Given the description of an element on the screen output the (x, y) to click on. 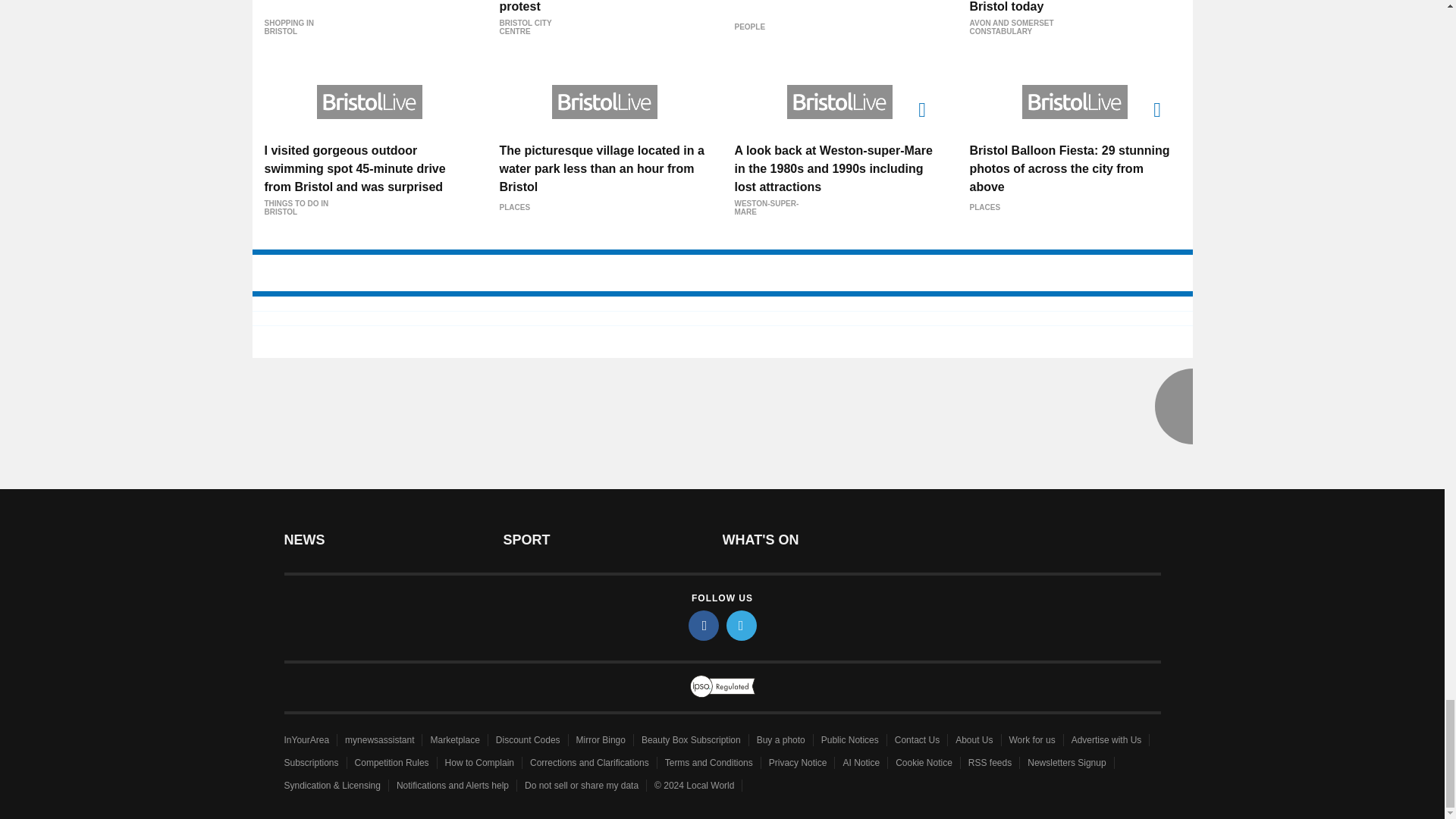
twitter (741, 625)
facebook (703, 625)
